Given the description of an element on the screen output the (x, y) to click on. 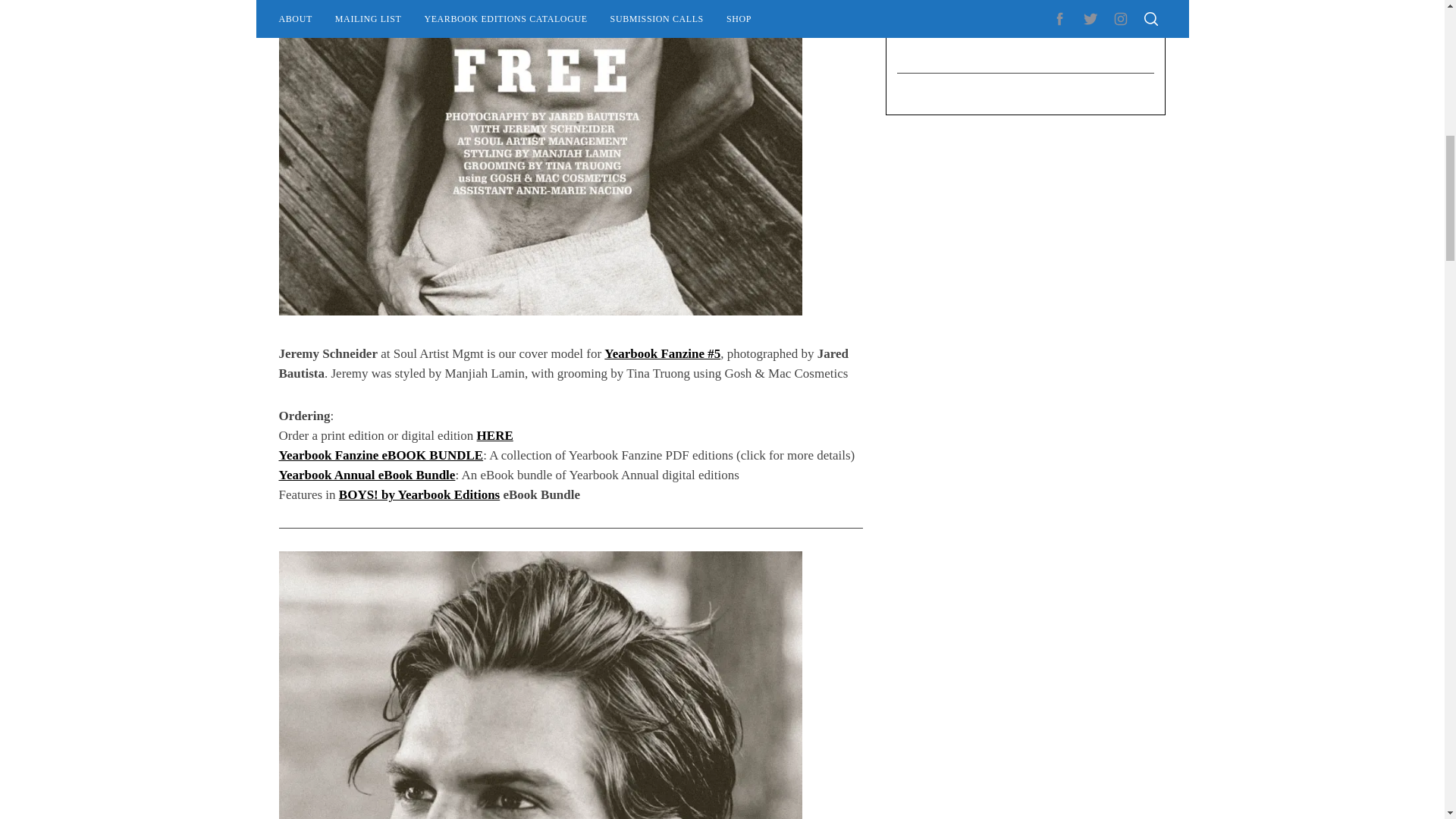
HERE (495, 435)
BOYS! by Yearbook Editions (419, 494)
Yearbook Fanzine eBOOK BUNDLE (381, 454)
Yearbook Annual eBook Bundle (367, 474)
